Given the description of an element on the screen output the (x, y) to click on. 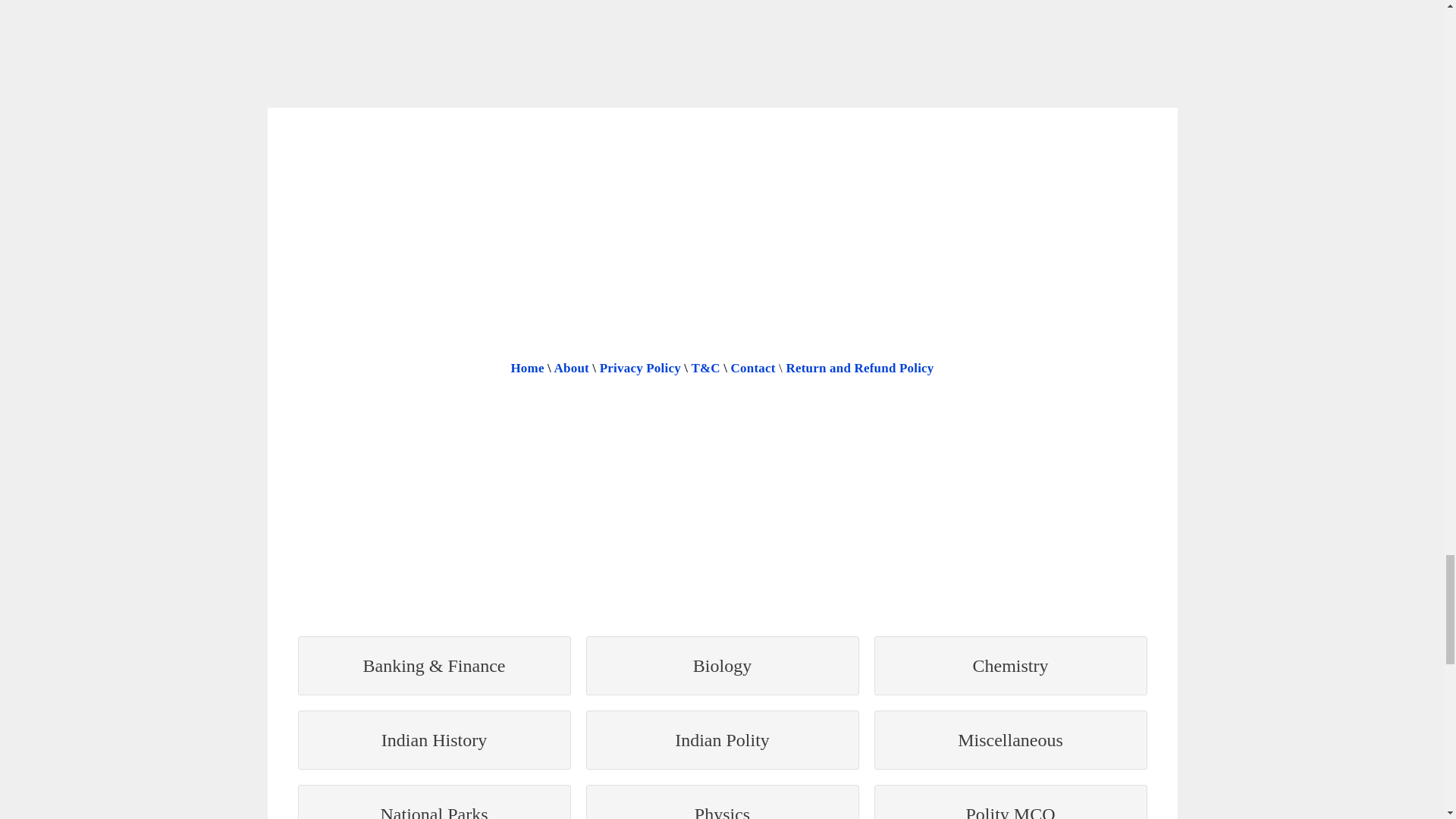
Advertisement (721, 49)
